Given the description of an element on the screen output the (x, y) to click on. 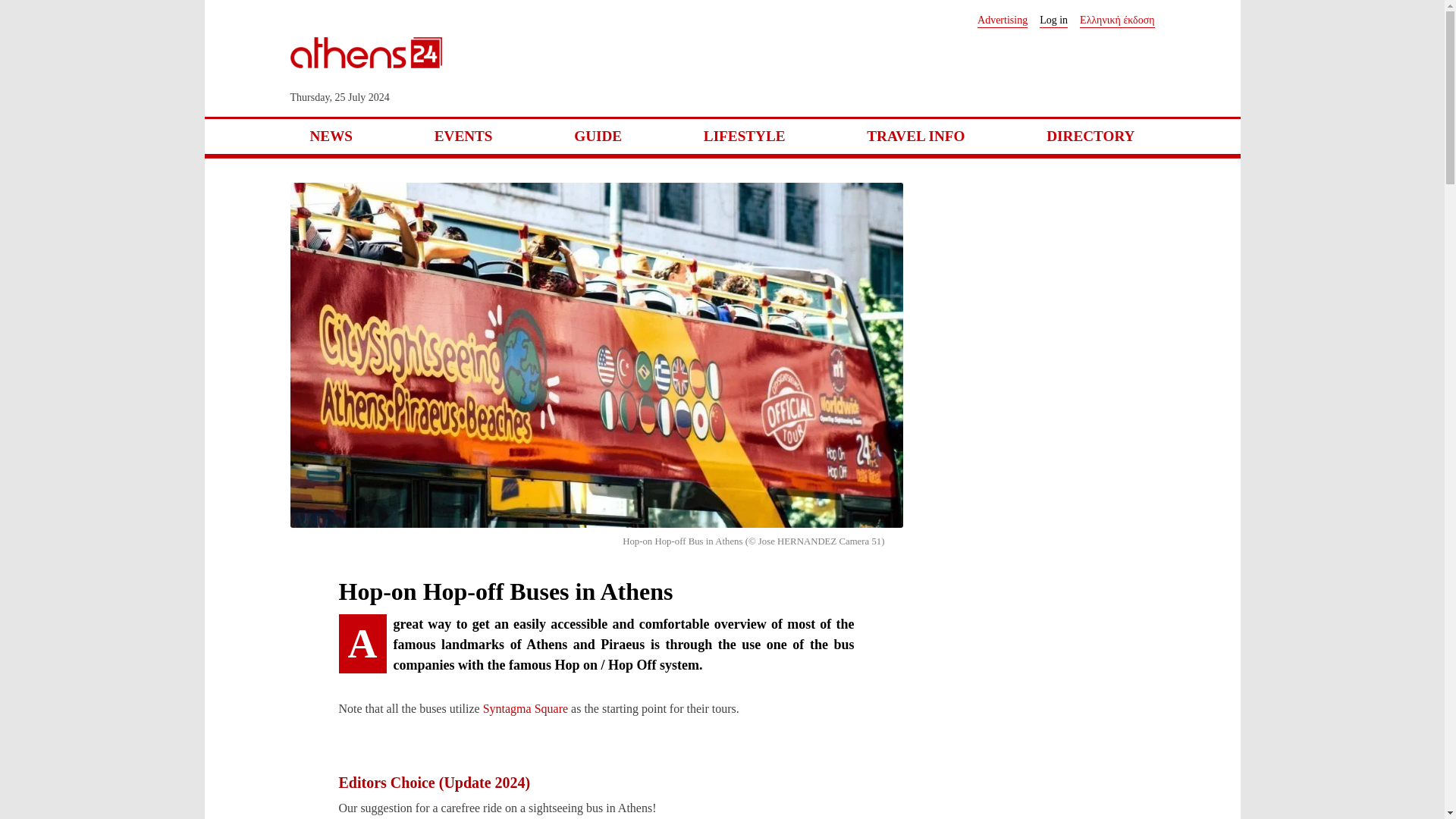
LIFESTYLE (744, 135)
Advertising (1001, 20)
TRAVEL INFO (915, 135)
Advertisement (878, 69)
NEWS (330, 135)
Log in (1053, 20)
EVENTS (463, 135)
Advertisement (1040, 313)
GUIDE (598, 135)
